Given the description of an element on the screen output the (x, y) to click on. 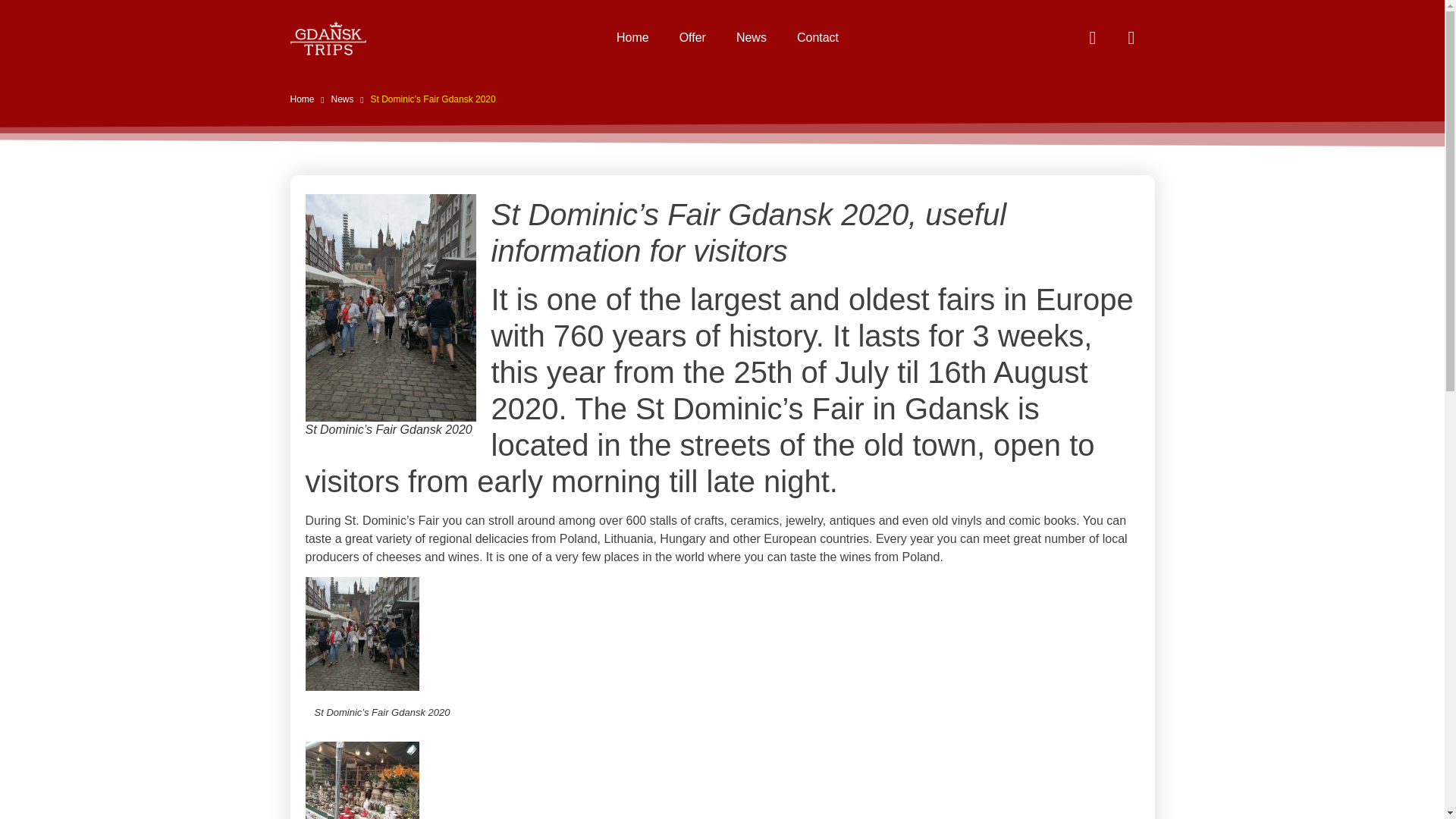
Home (632, 37)
Contact (817, 37)
Offer (691, 37)
News (750, 37)
